Given the description of an element on the screen output the (x, y) to click on. 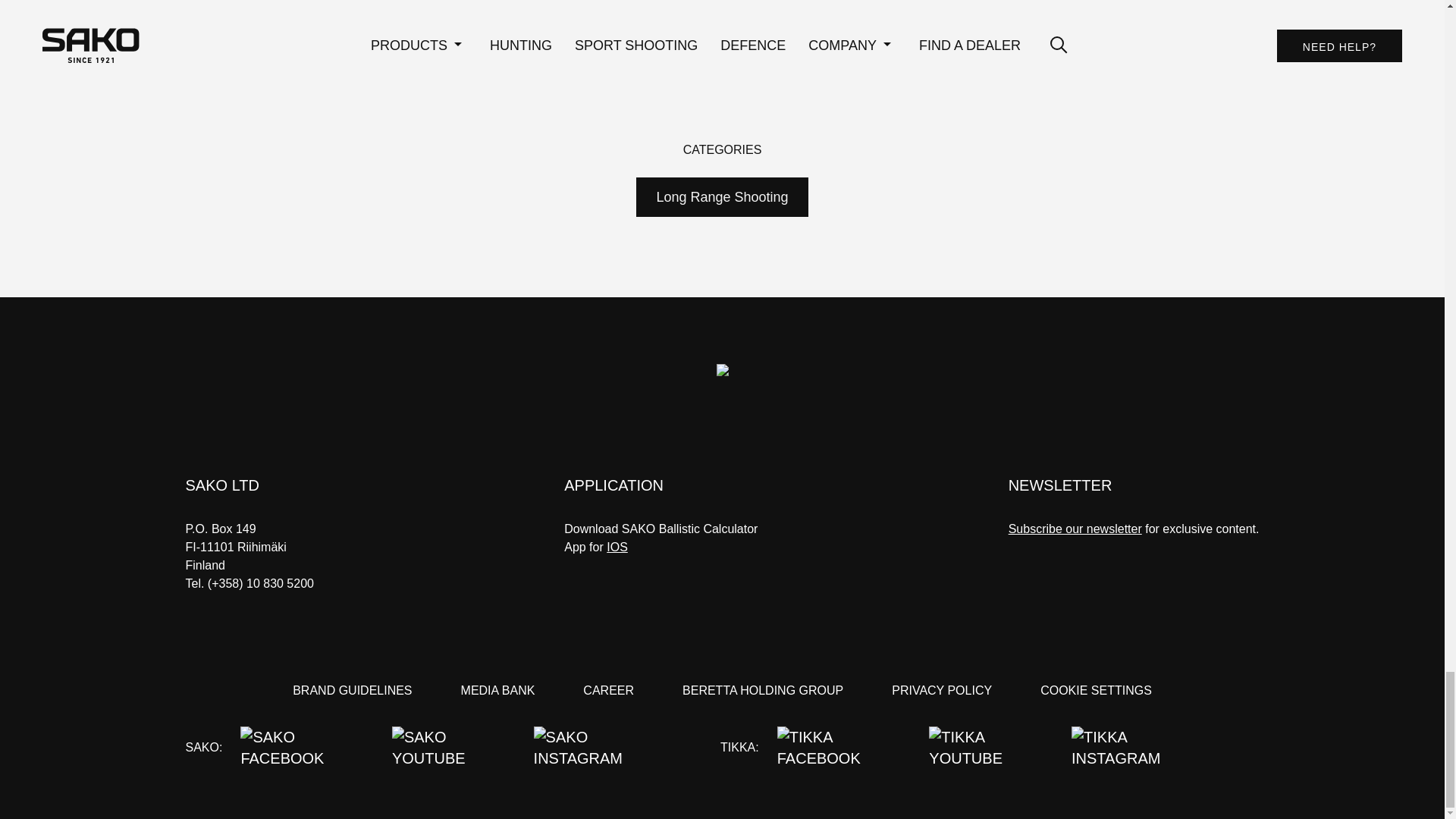
CAREER (608, 689)
Sako Youtube (453, 747)
Tikka Instagram (1141, 747)
BRAND GUIDELINES (352, 689)
BERETTA HOLDING GROUP (762, 689)
IOS (617, 546)
COOKIE SETTINGS (1096, 689)
Sako Instagram (602, 747)
MEDIA BANK (498, 689)
Sako Facebook (307, 747)
